Given the description of an element on the screen output the (x, y) to click on. 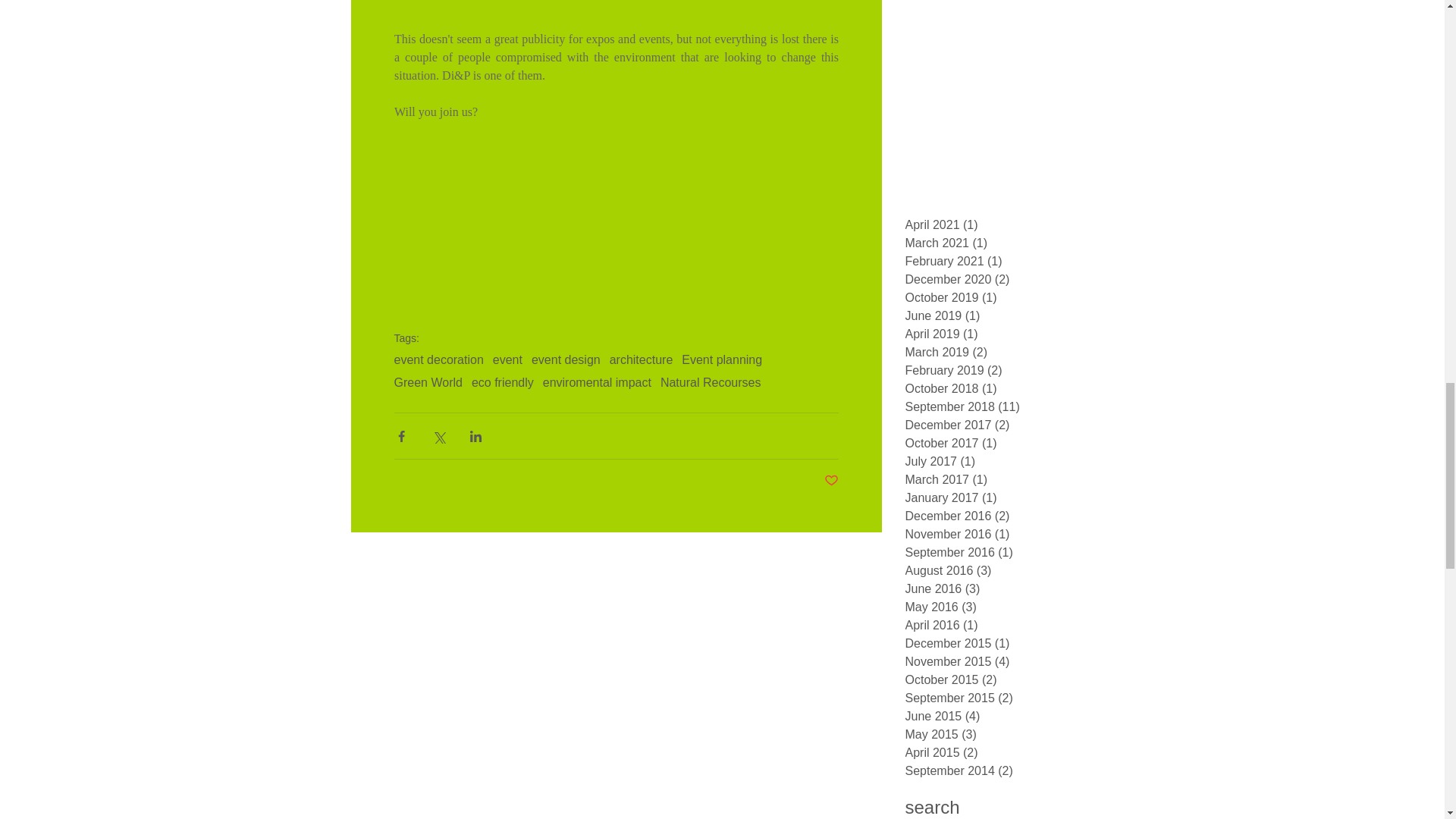
enviromental impact (596, 382)
event decoration (438, 359)
architecture (641, 359)
Green World (428, 382)
event (507, 359)
Event planning (721, 359)
Post not marked as liked (831, 480)
event design (565, 359)
Natural Recourses (711, 382)
eco friendly (502, 382)
